Given the description of an element on the screen output the (x, y) to click on. 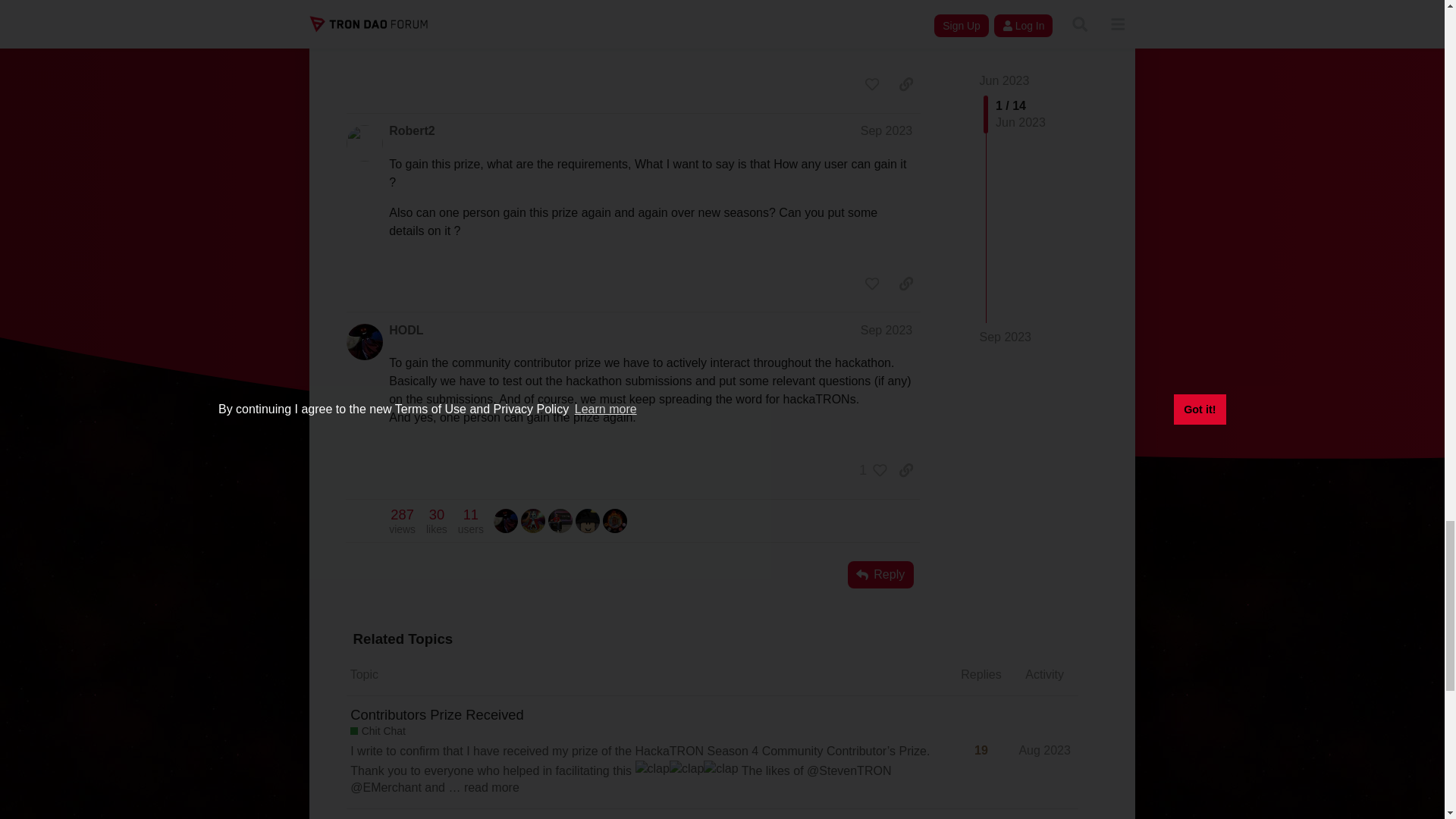
HODL (470, 521)
Nnadume Gabriel Chukwuebuka (402, 521)
StevenTRON (505, 519)
Prince Adjei  (532, 520)
antonio (560, 520)
Prince-Onscolo (614, 520)
Antonio Barrado (587, 519)
Okay (614, 519)
